Given the description of an element on the screen output the (x, y) to click on. 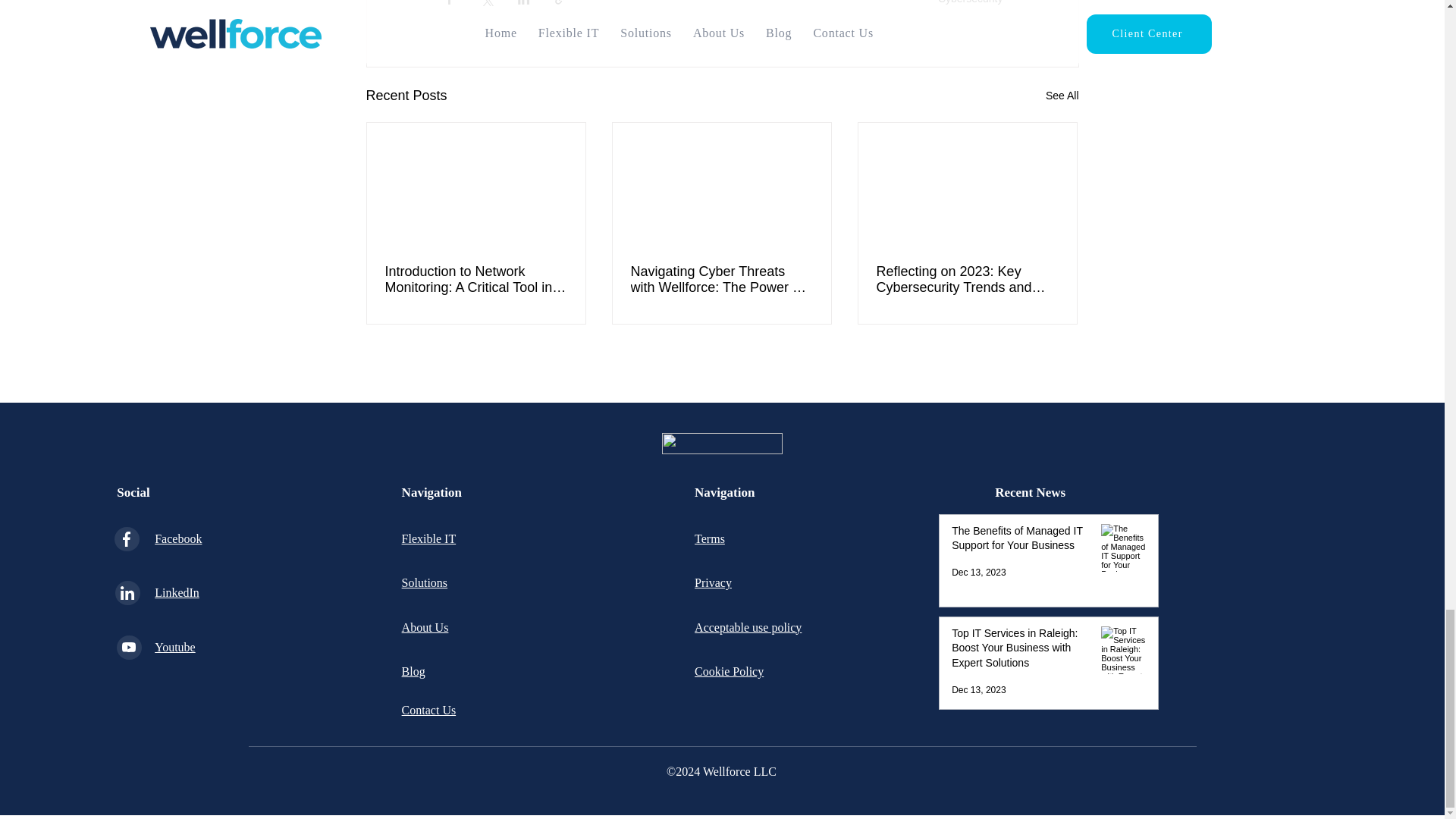
WFWhite 1.png (721, 443)
Dec 13, 2023 (979, 572)
Cybersecurity (970, 2)
Dec 13, 2023 (979, 689)
See All (1061, 96)
